Given the description of an element on the screen output the (x, y) to click on. 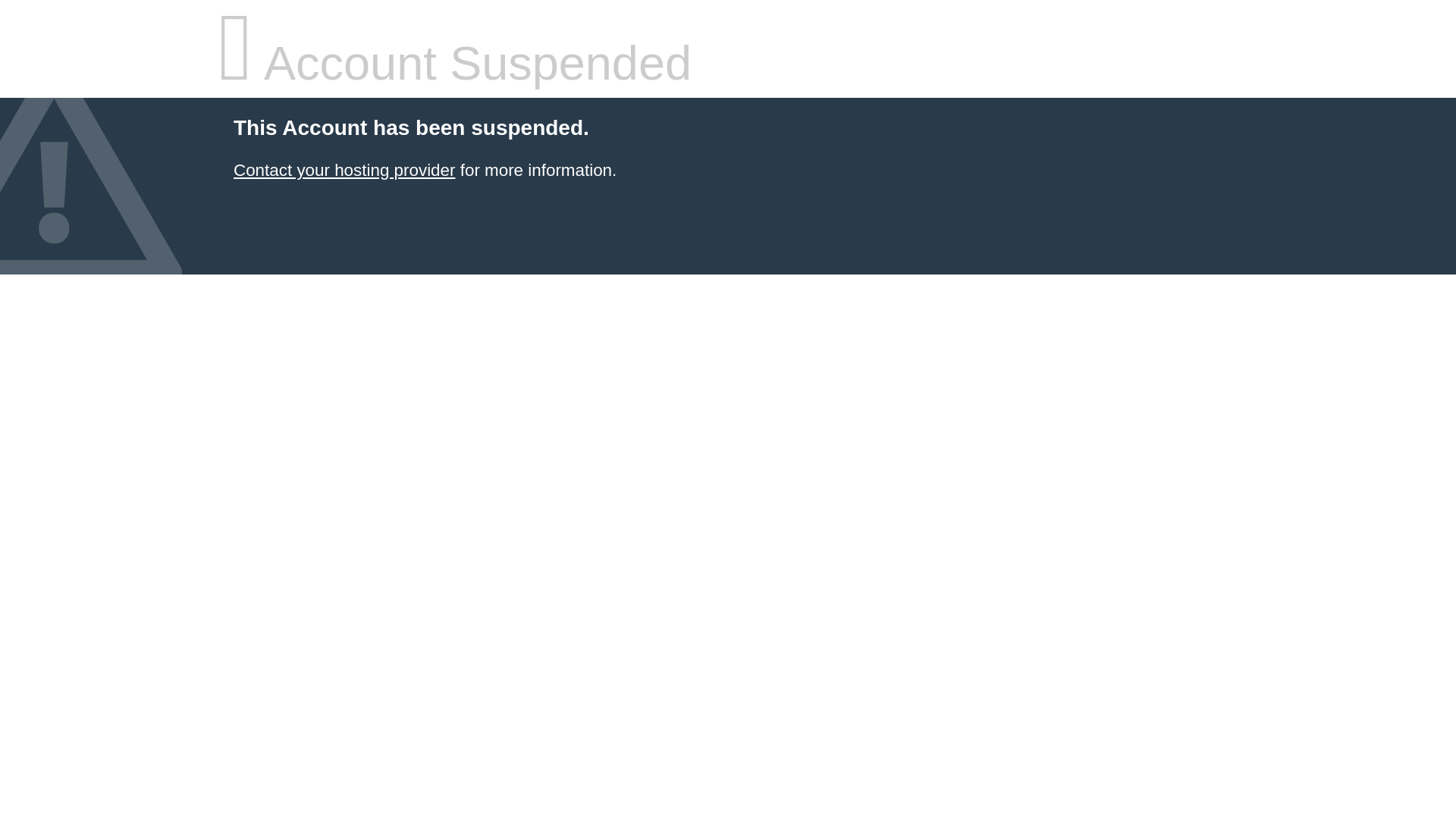
Contact your hosting provider (343, 169)
